Given the description of an element on the screen output the (x, y) to click on. 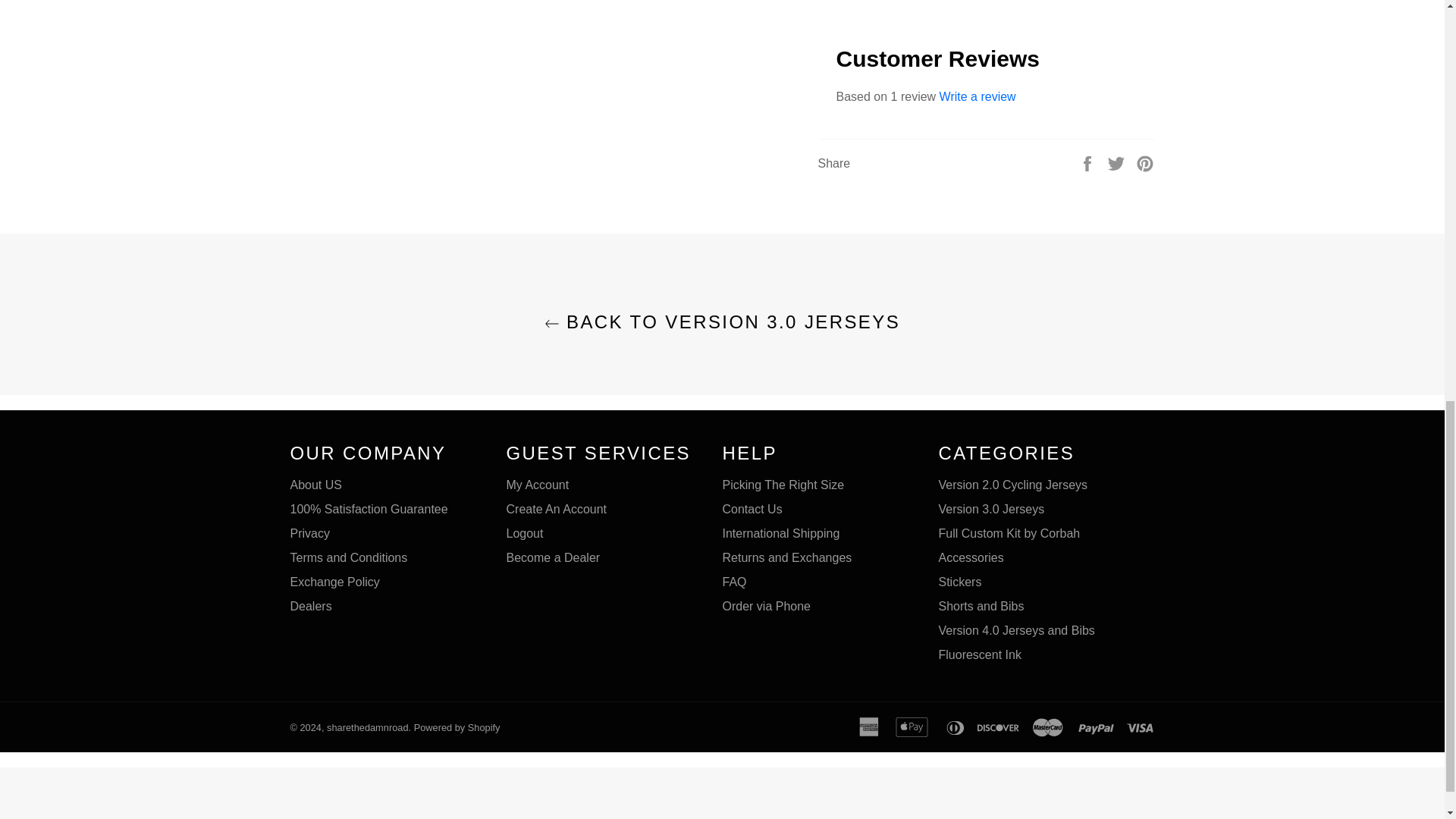
Pin on Pinterest (1144, 162)
Advertisement (721, 796)
Share on Facebook (1088, 162)
Tweet on Twitter (1117, 162)
